Given the description of an element on the screen output the (x, y) to click on. 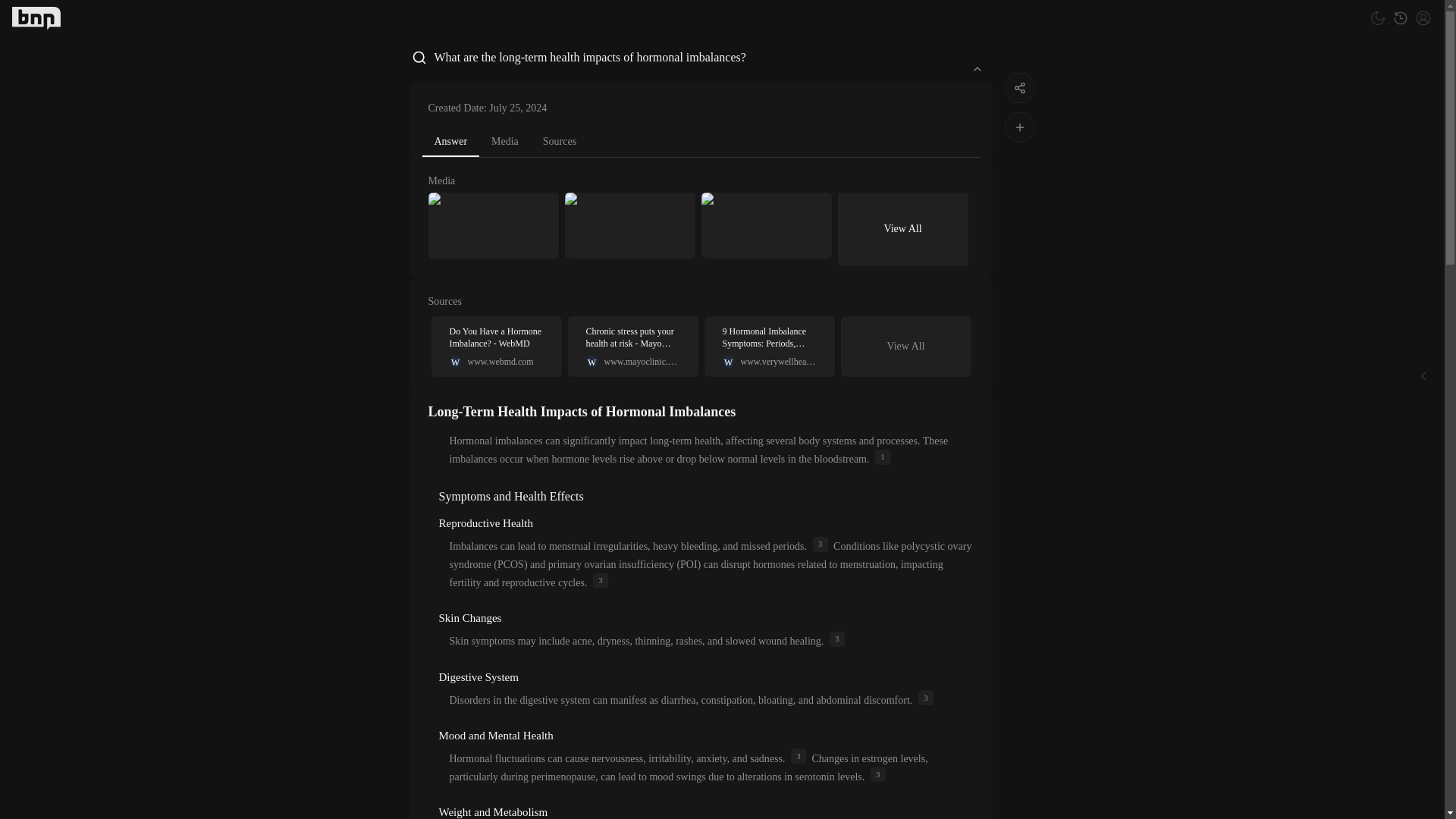
Answer (450, 142)
collapse (975, 68)
3 (836, 639)
3 (600, 580)
Media (505, 141)
3 (820, 544)
1 (882, 457)
View All (905, 346)
Toggle theme (1377, 17)
3 (495, 346)
Sources (877, 774)
3 (559, 141)
